Given the description of an element on the screen output the (x, y) to click on. 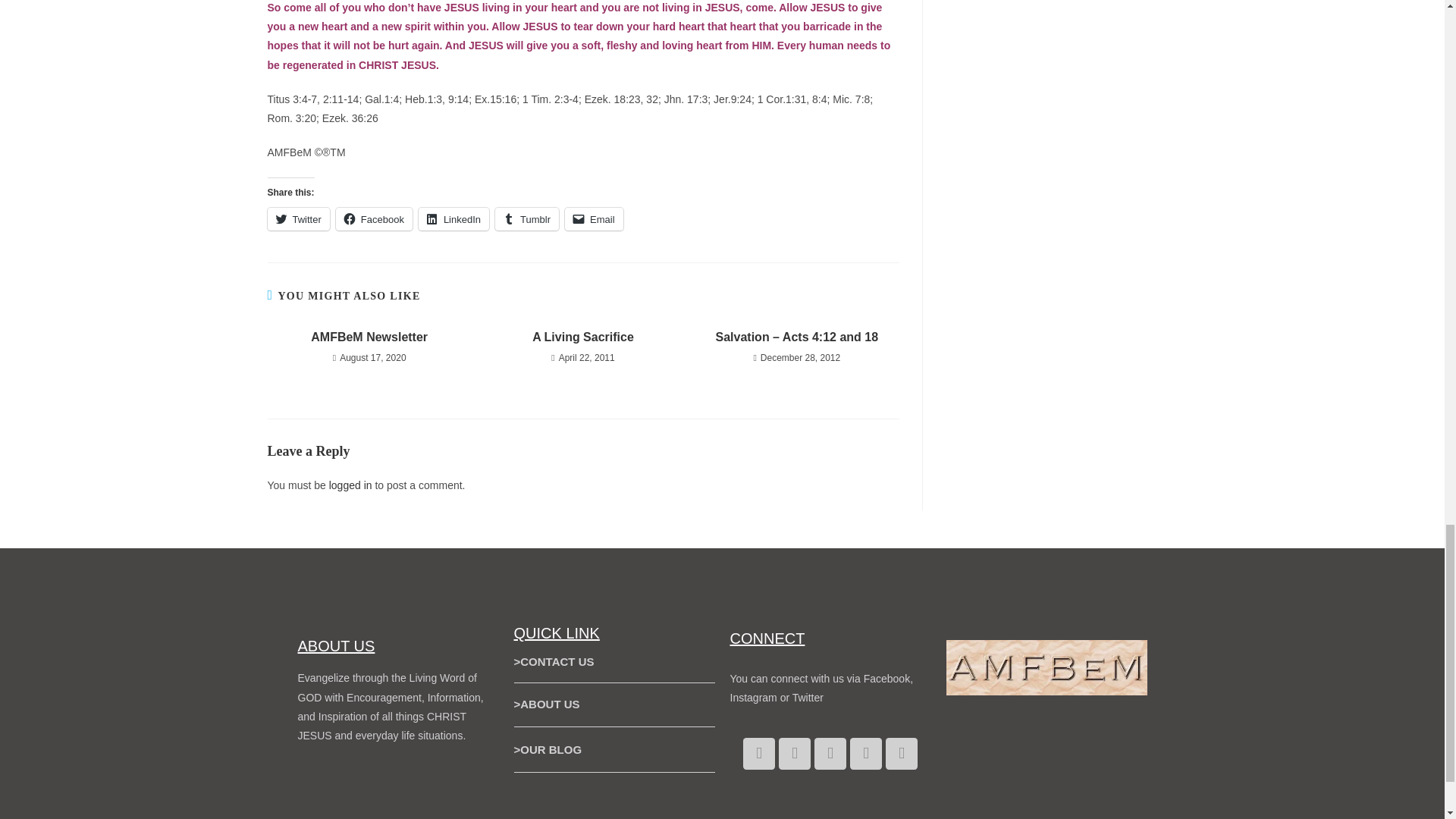
Twitter (297, 219)
Click to share on LinkedIn (454, 219)
Email (593, 219)
Click to share on Facebook (374, 219)
logged in (350, 485)
Click to email a link to a friend (593, 219)
A Living Sacrifice (582, 337)
Facebook (374, 219)
Click to share on Tumblr (527, 219)
Tumblr (527, 219)
